Given the description of an element on the screen output the (x, y) to click on. 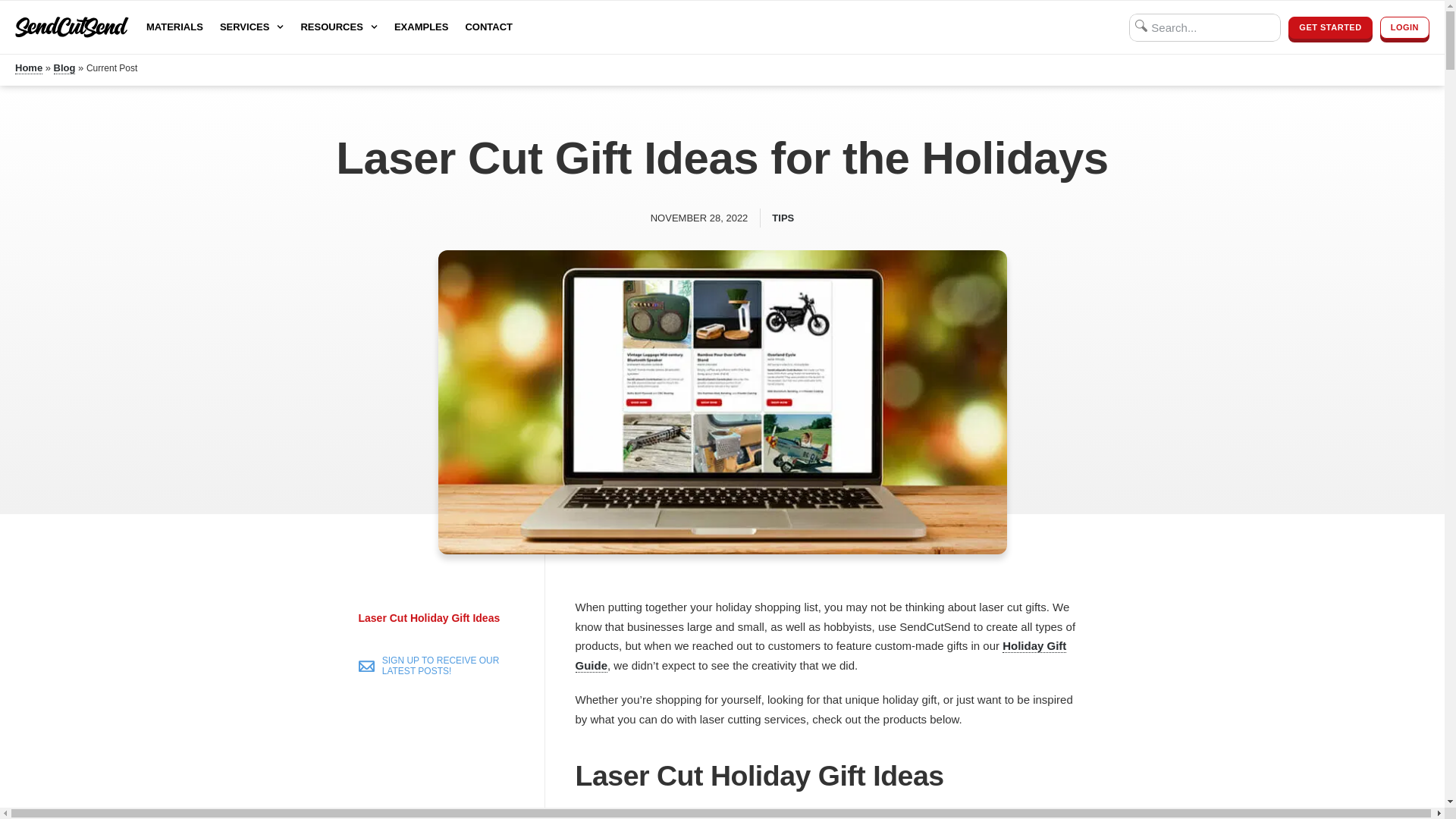
SERVICES (251, 27)
MATERIALS (175, 27)
Search (1205, 27)
